Given the description of an element on the screen output the (x, y) to click on. 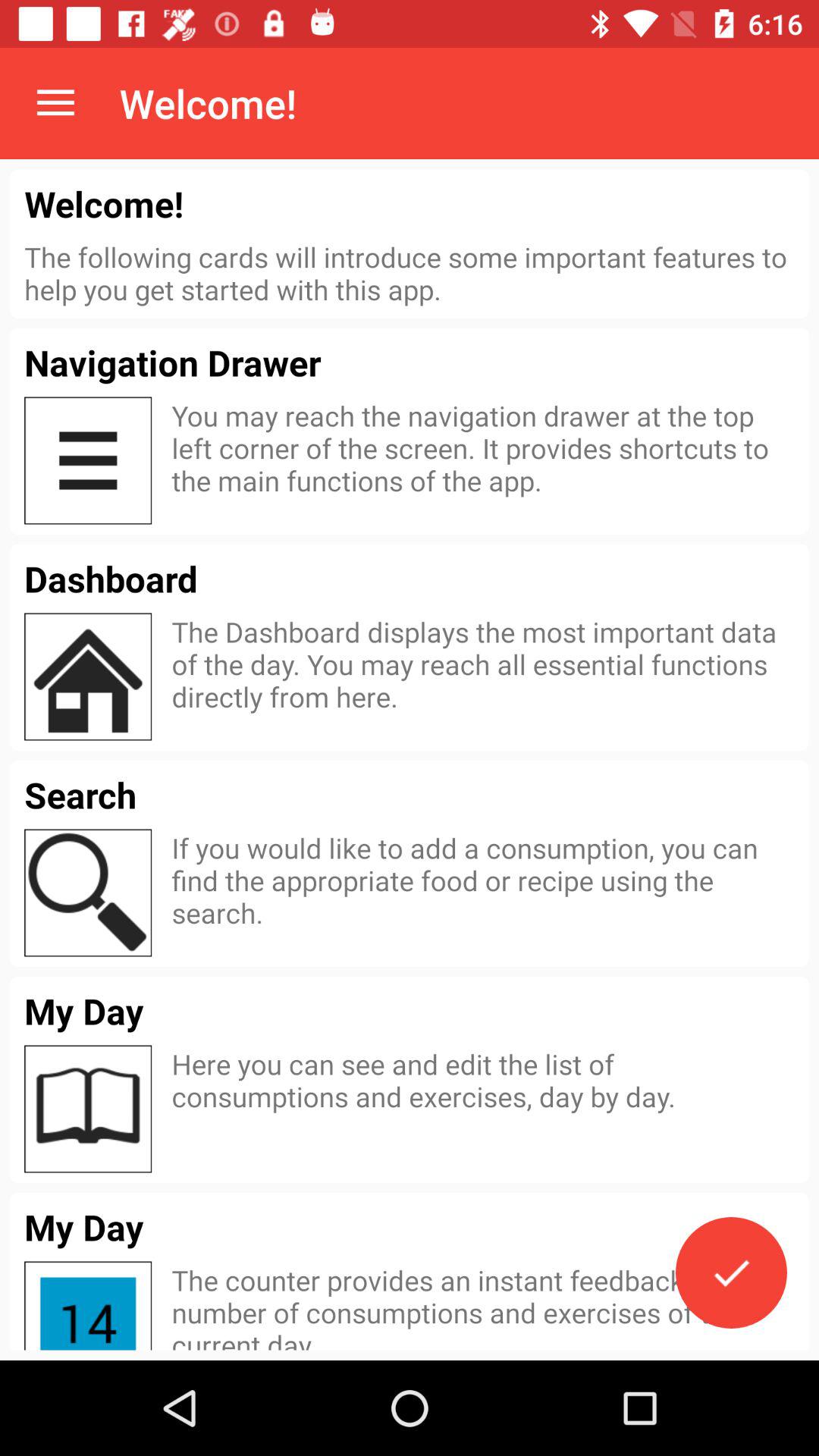
open the item below here you can (731, 1272)
